Given the description of an element on the screen output the (x, y) to click on. 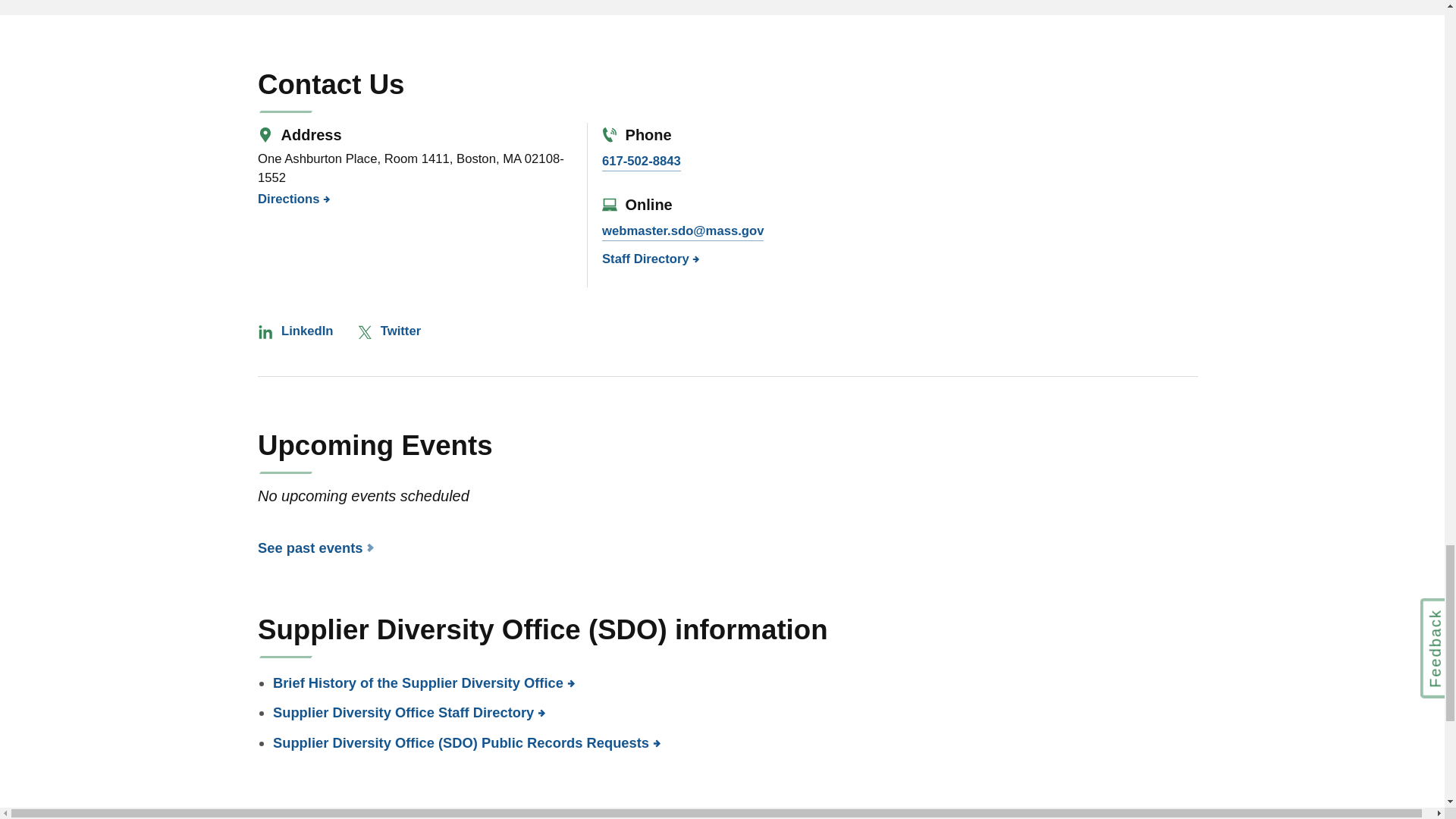
directions (288, 198)
